Given the description of an element on the screen output the (x, y) to click on. 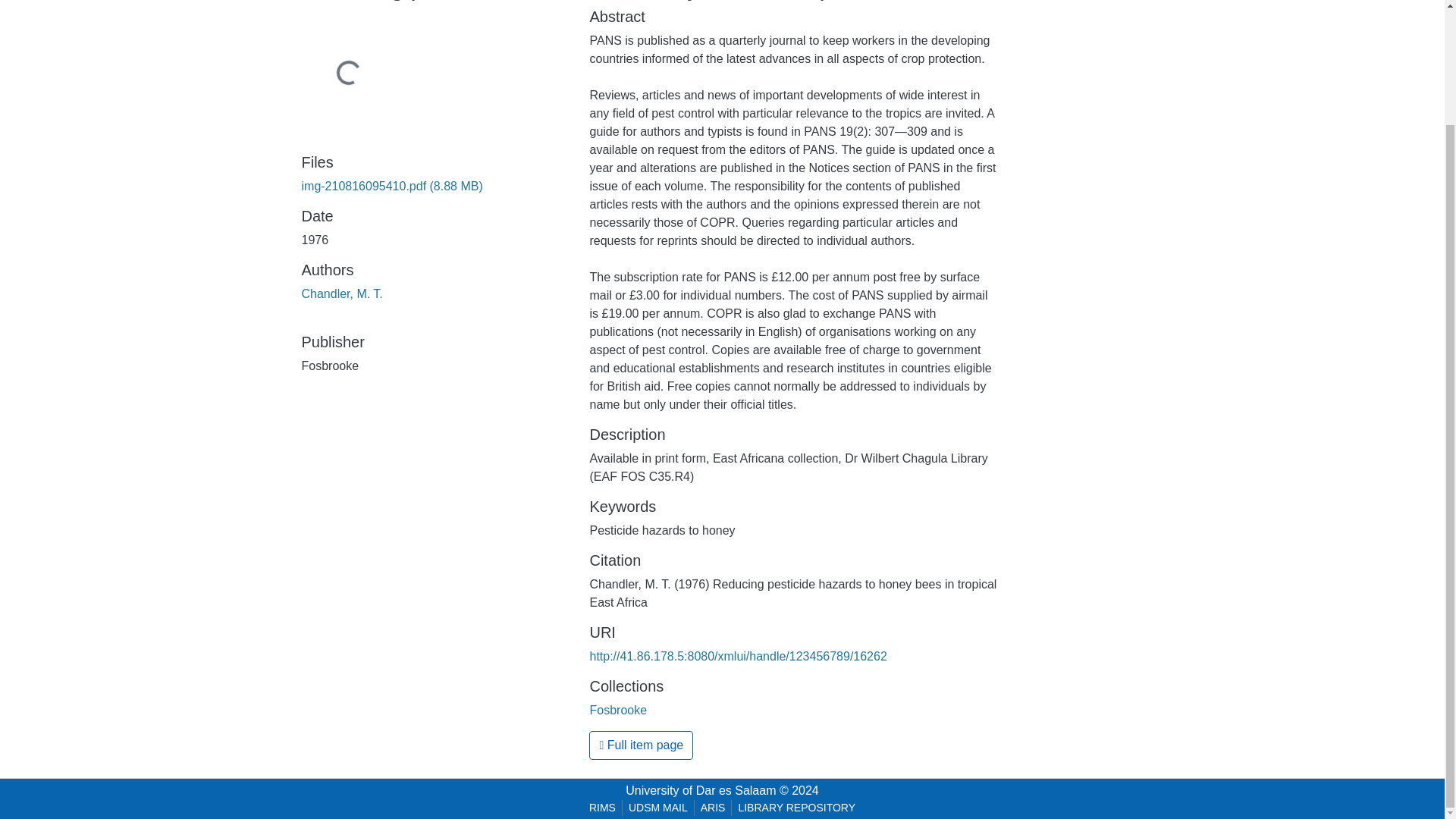
Fosbrooke (617, 709)
Chandler, M. T. (341, 293)
RIMS (602, 807)
Full item page (641, 745)
ARIS (713, 807)
UDSM MAIL (658, 807)
LIBRARY REPOSITORY (796, 807)
